Given the description of an element on the screen output the (x, y) to click on. 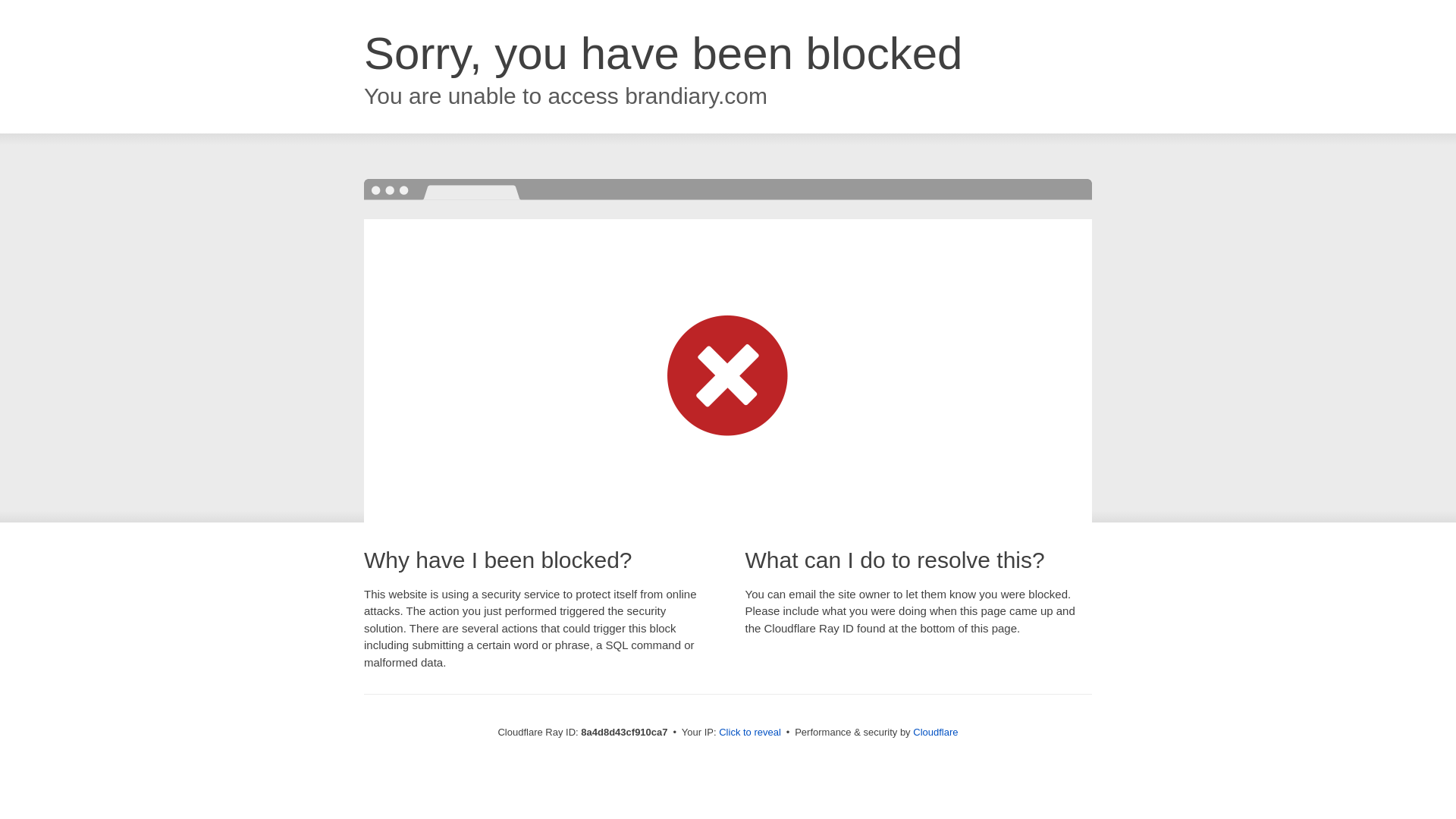
Cloudflare (935, 731)
Click to reveal (749, 732)
